Given the description of an element on the screen output the (x, y) to click on. 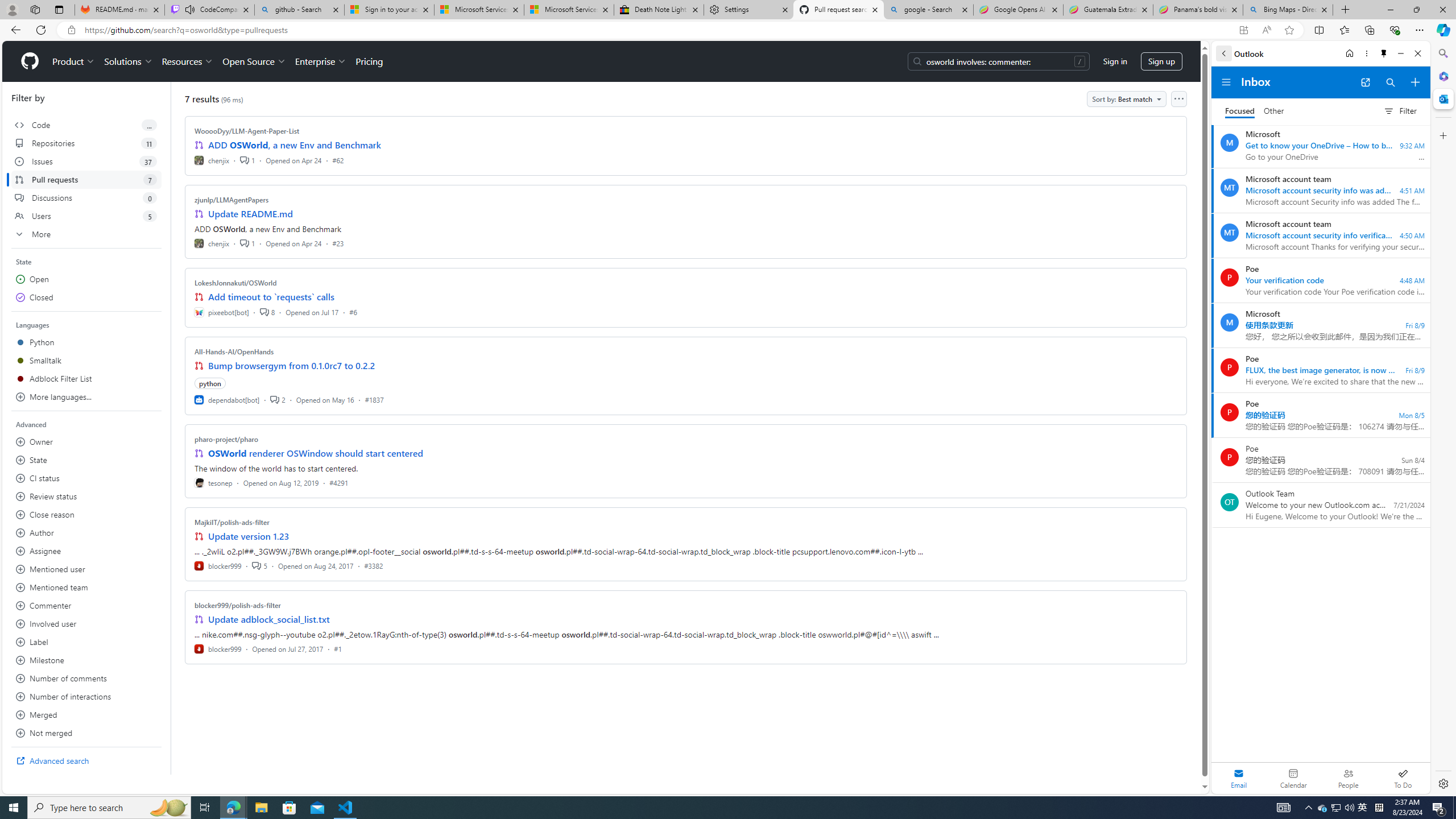
#62 (337, 159)
ADD OSWorld, a new Env and Benchmark (294, 144)
Add timeout to `requests` calls (271, 296)
Sort by: Best match (1126, 98)
#3382 (373, 565)
5 (259, 565)
#4291 (338, 482)
Advanced search (86, 760)
Calendar. Date today is 22 (1293, 777)
